Given the description of an element on the screen output the (x, y) to click on. 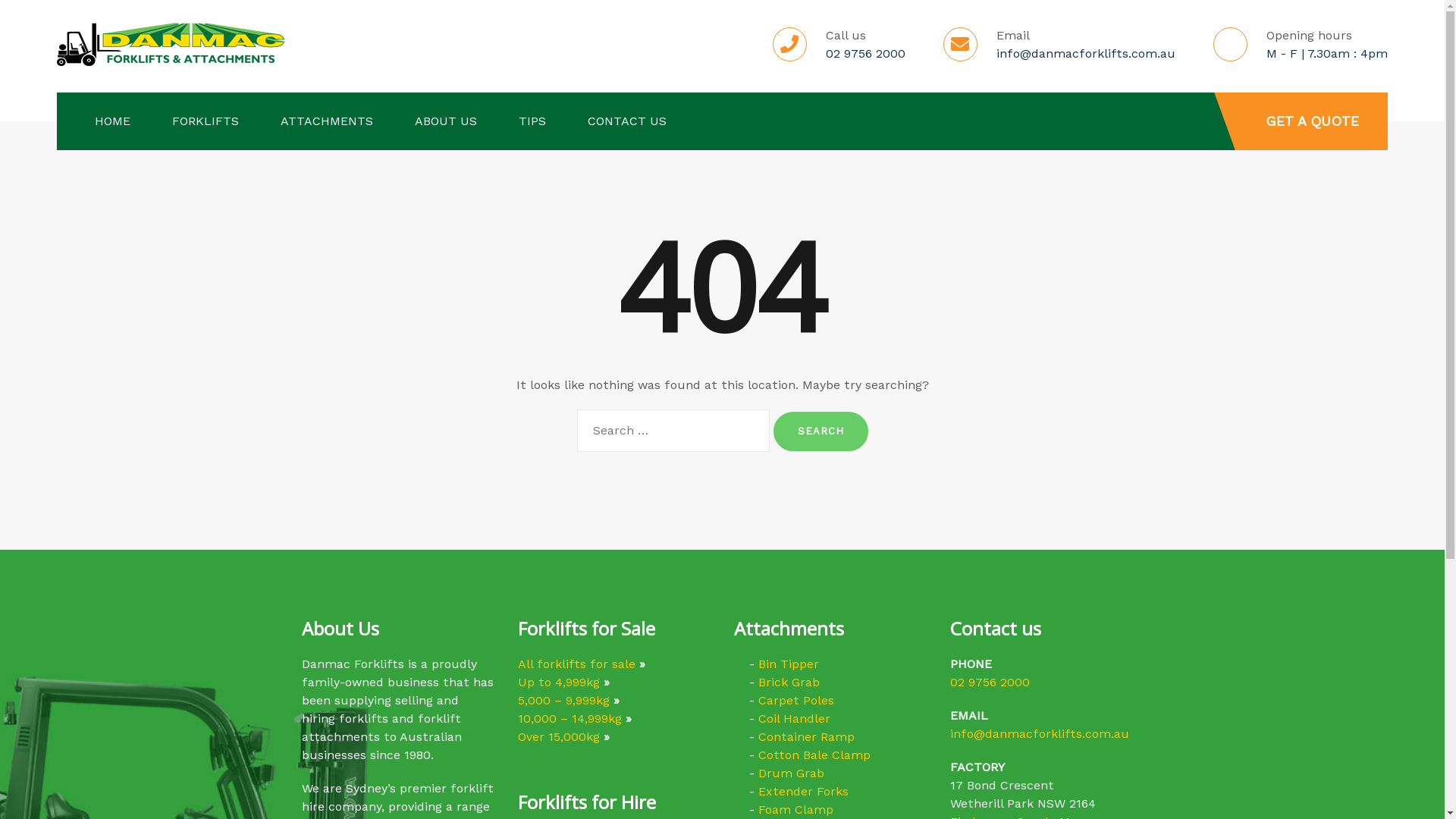
Extender Forks Element type: text (803, 791)
Up to 4,999kg Element type: text (558, 681)
Search Element type: text (820, 431)
FORKLIFTS Element type: text (205, 121)
Container Ramp Element type: text (806, 736)
Drum Grab Element type: text (791, 772)
Carpet Poles Element type: text (796, 700)
CONTACT US Element type: text (626, 121)
02 9756 2000 Element type: text (989, 681)
GET A QUOTE Element type: text (1311, 121)
info@danmacforklifts.com.au Element type: text (1038, 733)
HOME Element type: text (112, 121)
All forklifts for sale Element type: text (575, 663)
ABOUT US Element type: text (445, 121)
Brick Grab Element type: text (788, 681)
Foam Clamp Element type: text (795, 809)
TIPS Element type: text (532, 121)
Over 15,000kg Element type: text (558, 736)
Cotton Bale Clamp Element type: text (814, 754)
ATTACHMENTS Element type: text (326, 121)
Coil Handler Element type: text (794, 718)
Bin Tipper Element type: text (788, 663)
